Given the description of an element on the screen output the (x, y) to click on. 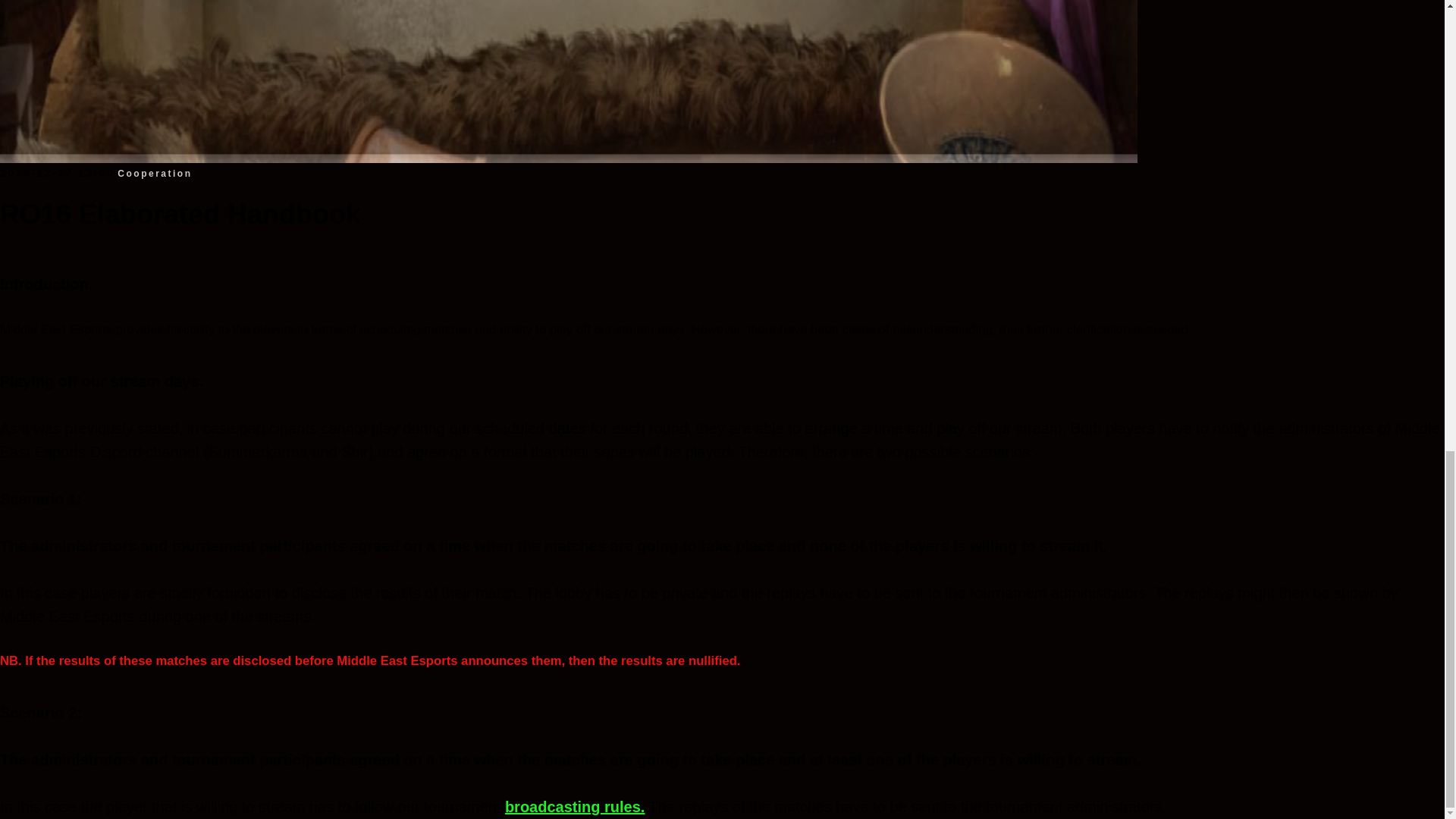
Cooperation (154, 172)
broadcasting rules. (575, 806)
